Given the description of an element on the screen output the (x, y) to click on. 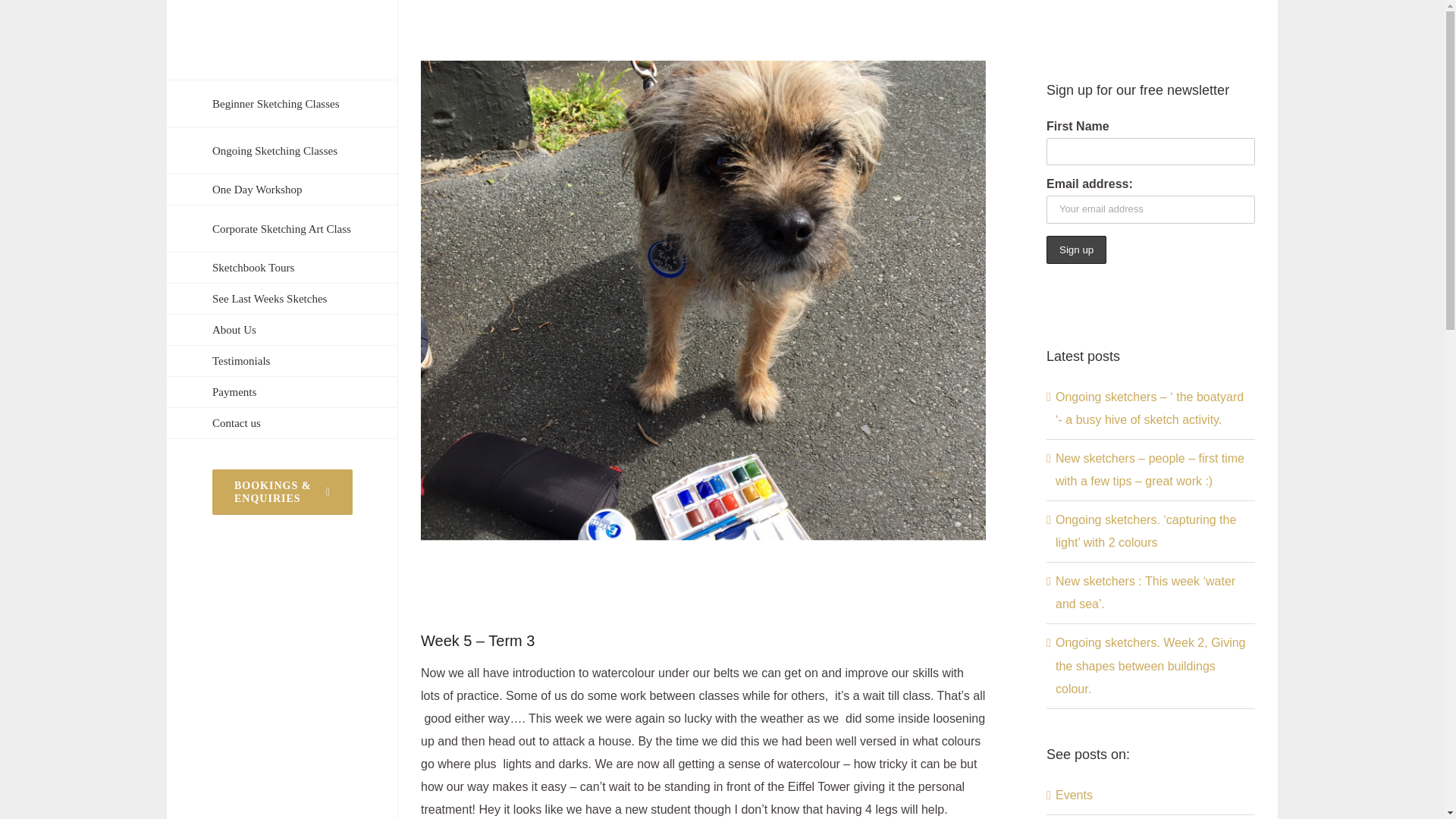
Testimonials (282, 360)
Payments (282, 391)
contact (282, 422)
One Day Workshop (282, 189)
Contact us (282, 422)
Ongoing Sketching Classes (282, 150)
Corporate Sketching Art Class (282, 228)
See Last Weeks Sketches (282, 298)
About Us (282, 329)
